Given the description of an element on the screen output the (x, y) to click on. 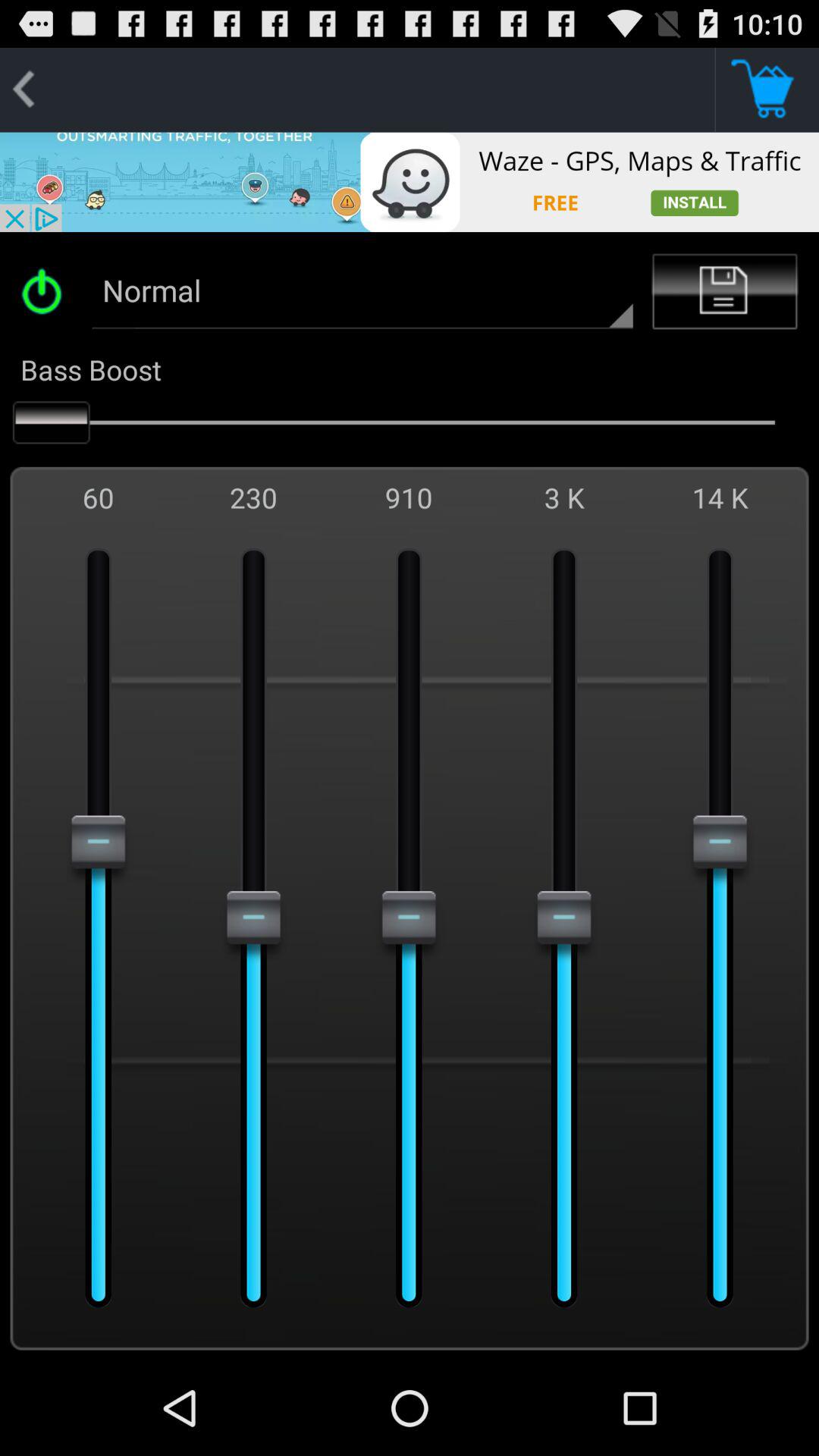
this button shop (767, 89)
